Given the description of an element on the screen output the (x, y) to click on. 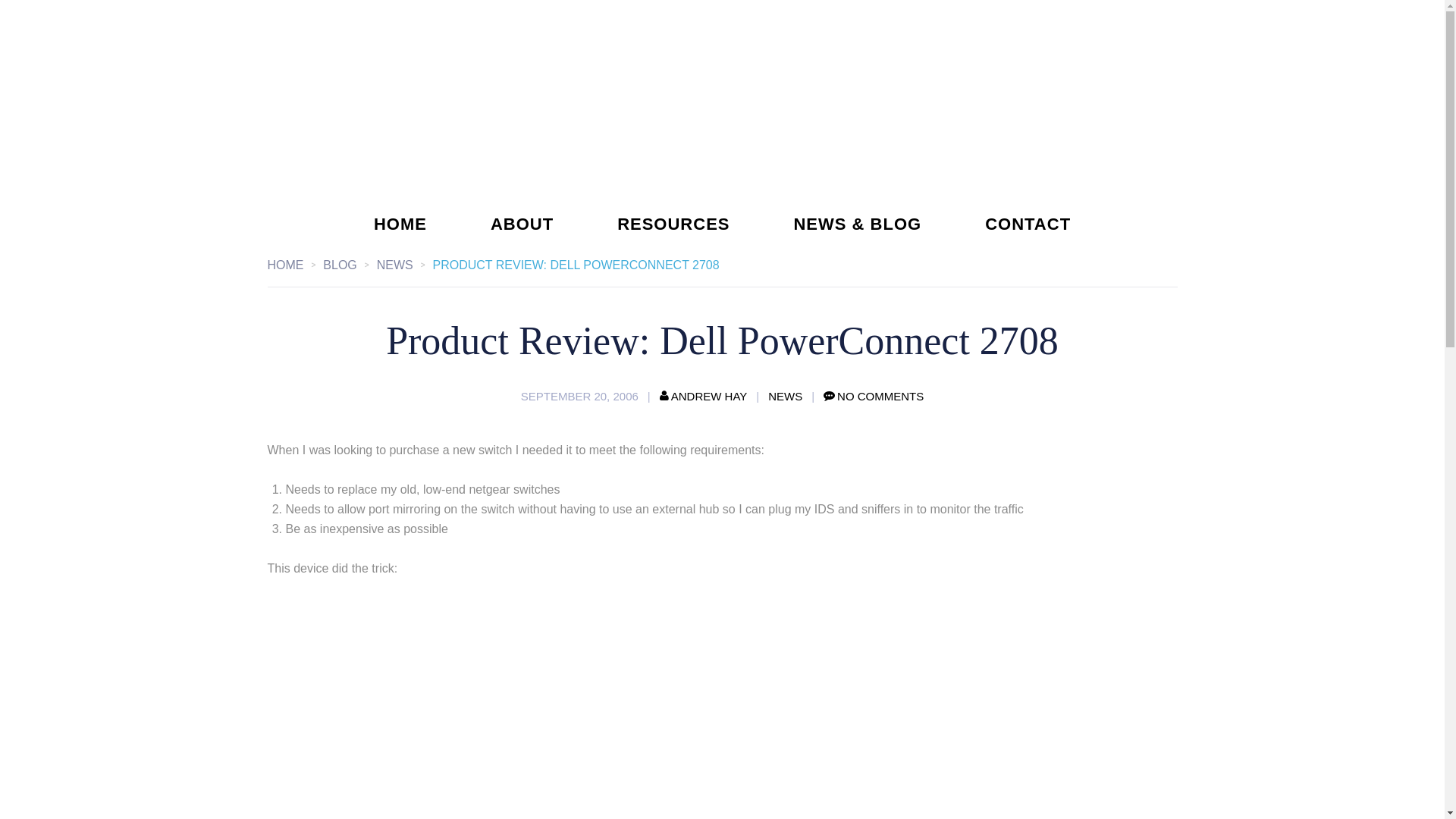
RESOURCES Element type: text (673, 224)
Andrew Hay Element type: hover (721, 114)
HOME Element type: text (400, 224)
NO COMMENTS Element type: text (873, 395)
NEWS & BLOG Element type: text (857, 224)
HOME Element type: text (294, 264)
ABOUT Element type: text (521, 224)
CONTACT Element type: text (1027, 224)
BLOG Element type: text (349, 264)
ANDREW HAY Element type: text (703, 395)
NEWS Element type: text (404, 264)
NEWS Element type: text (785, 395)
